Given the description of an element on the screen output the (x, y) to click on. 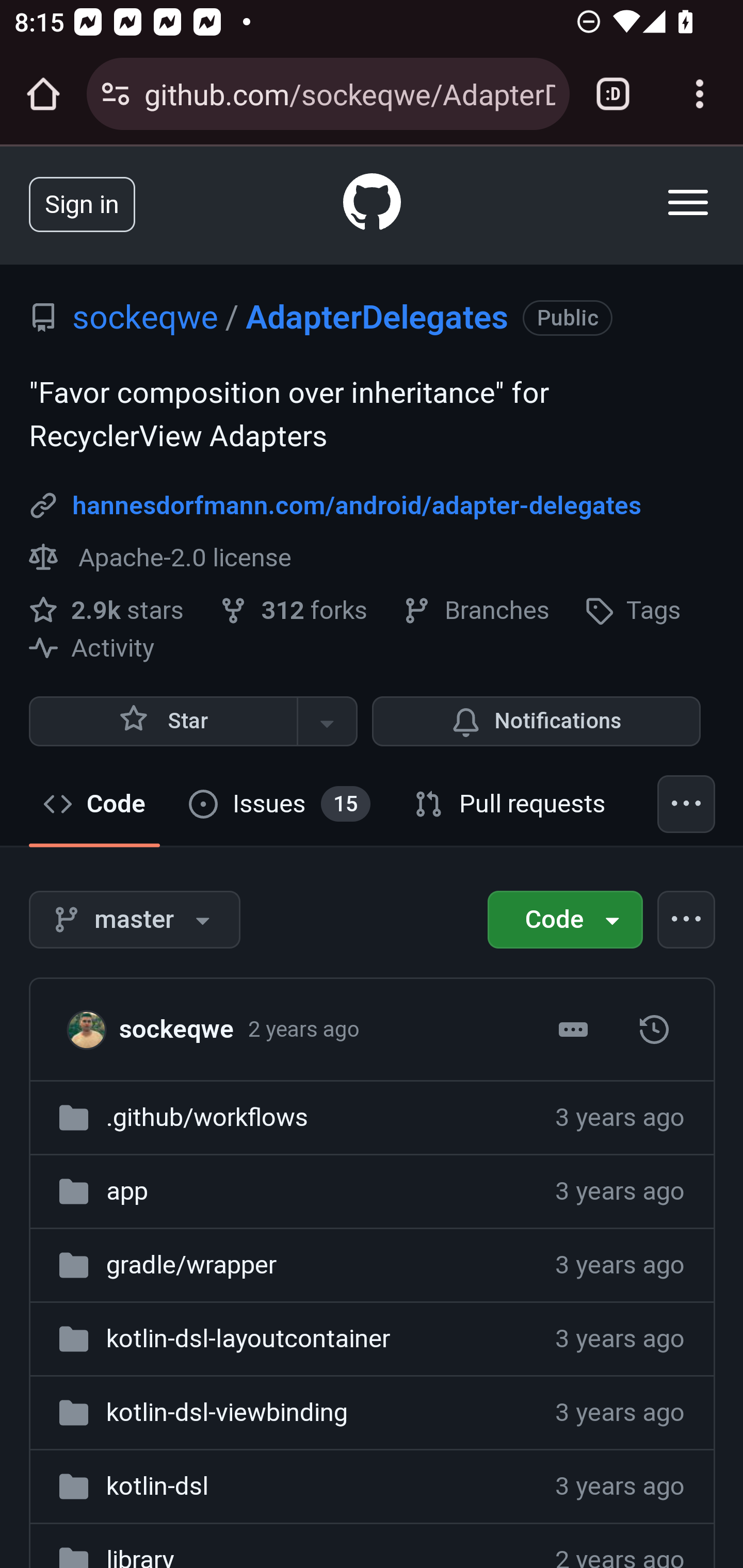
Open the home page (43, 93)
Connection is secure (115, 93)
Switch or close tabs (612, 93)
Customize and control Google Chrome (699, 93)
github.com/sockeqwe/AdapterDelegates (349, 92)
Homepage (372, 205)
Toggle navigation (688, 202)
Sign in (81, 203)
sockeqwe (145, 317)
AdapterDelegates (376, 317)
hannesdorfmann.com/android/adapter-delegates (357, 505)
 Apache-2.0 license (160, 556)
Branches (475, 609)
Tags (632, 609)
2.9k stars  2.9k  stars  (109, 609)
312 forks  312  forks  (295, 609)
Activity (91, 647)
You must be signed in to star a repository  Star (162, 720)
Additional navigation options (686, 804)
Code (94, 804)
Issues 15 Issues 15 (279, 804)
Pull requests (510, 804)
master branch (135, 919)
Code (565, 919)
Open more actions menu (686, 919)
Open commit details (573, 1029)
master (654, 1029)
sockeqwe (91, 1028)
commits by sockeqwe sockeqwe (175, 1028)
.github/workflows, (Directory) .github/ workflows (206, 1116)
app, (Directory) app (125, 1189)
gradle/wrapper, (Directory) gradle/ wrapper (190, 1264)
kotlin-dsl, (Directory) kotlin-dsl (156, 1485)
library, (Directory) library (139, 1555)
